Given the description of an element on the screen output the (x, y) to click on. 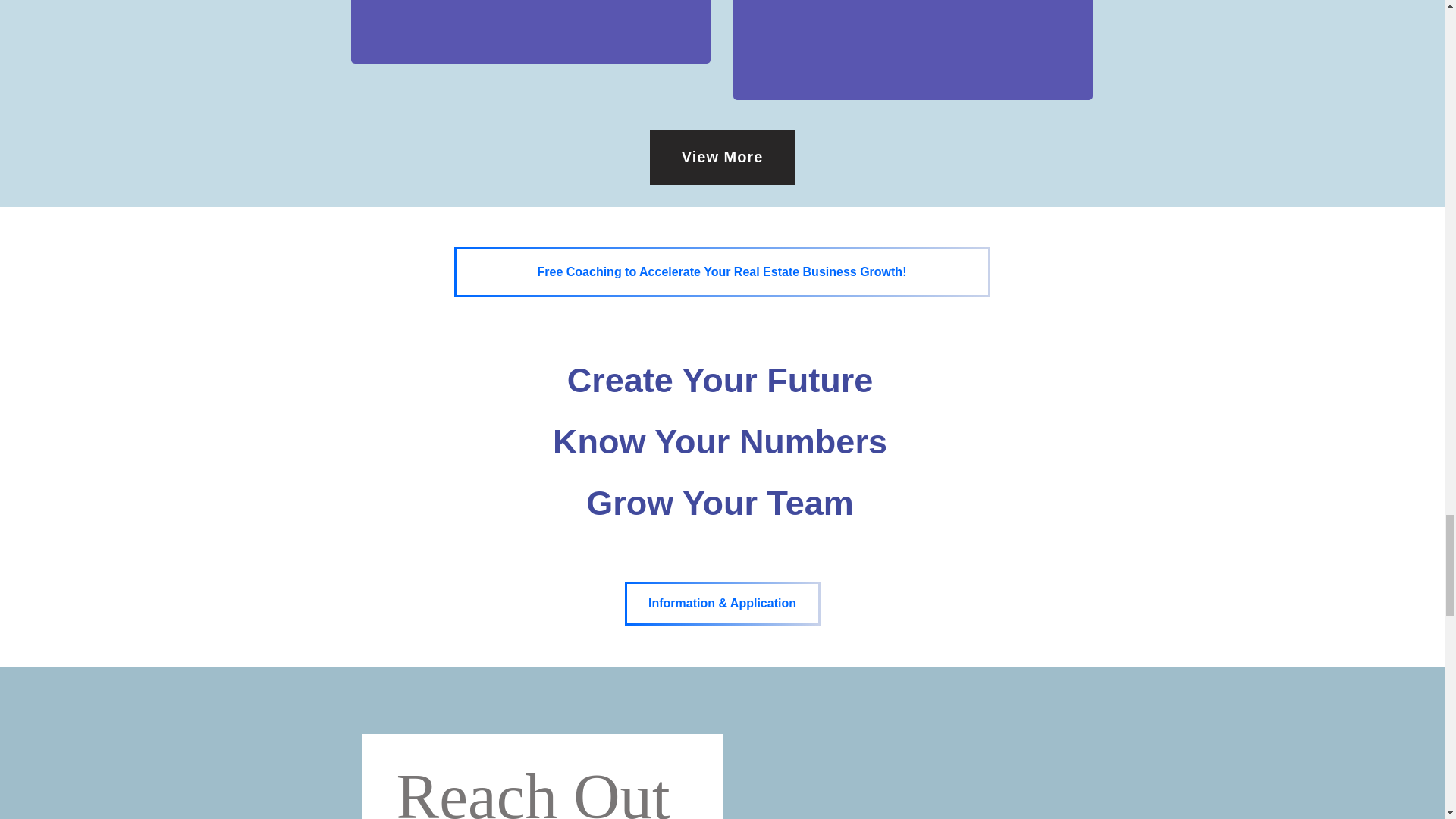
View More (721, 157)
